Given the description of an element on the screen output the (x, y) to click on. 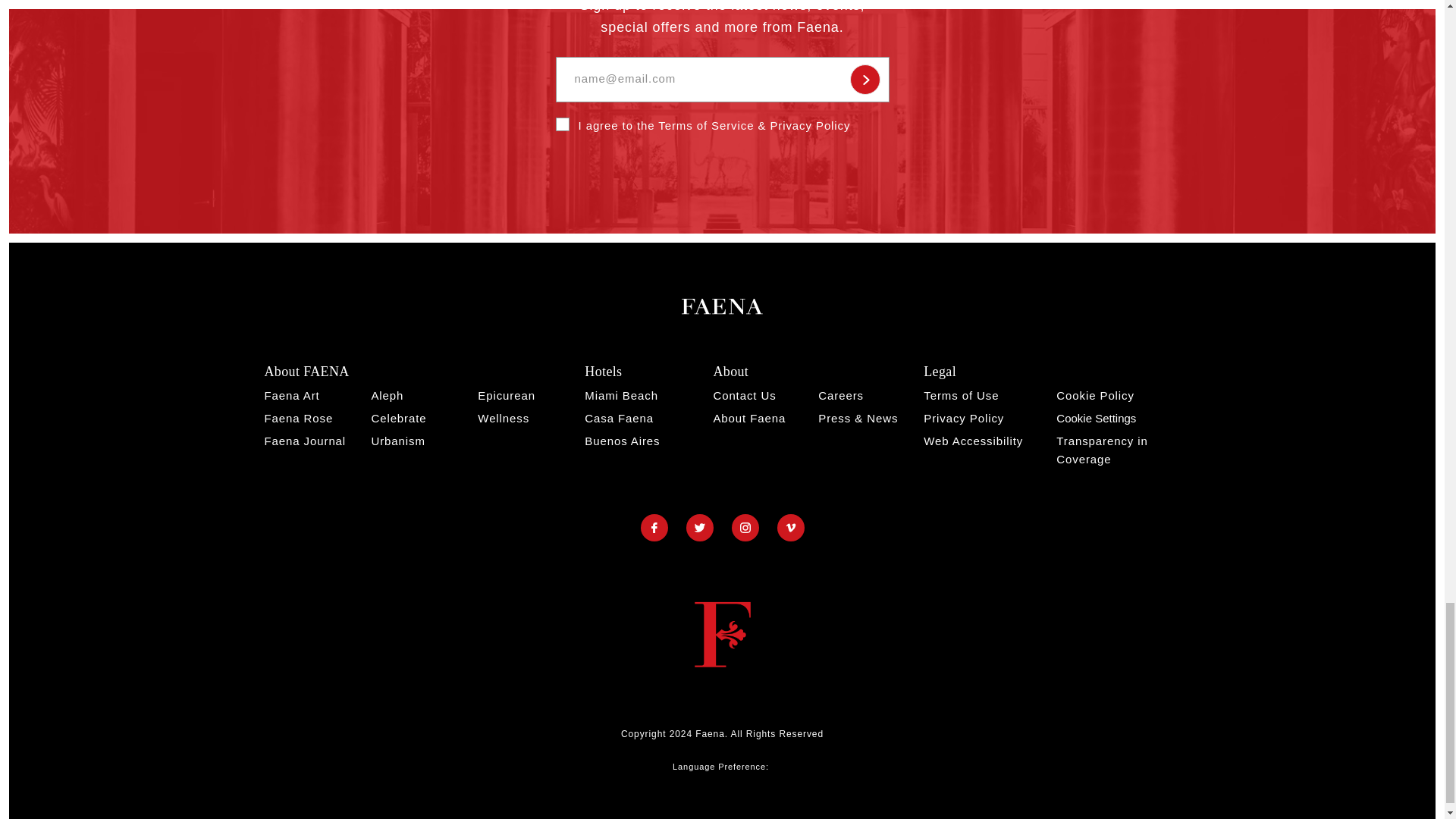
1 (561, 124)
Submit (863, 79)
